Given the description of an element on the screen output the (x, y) to click on. 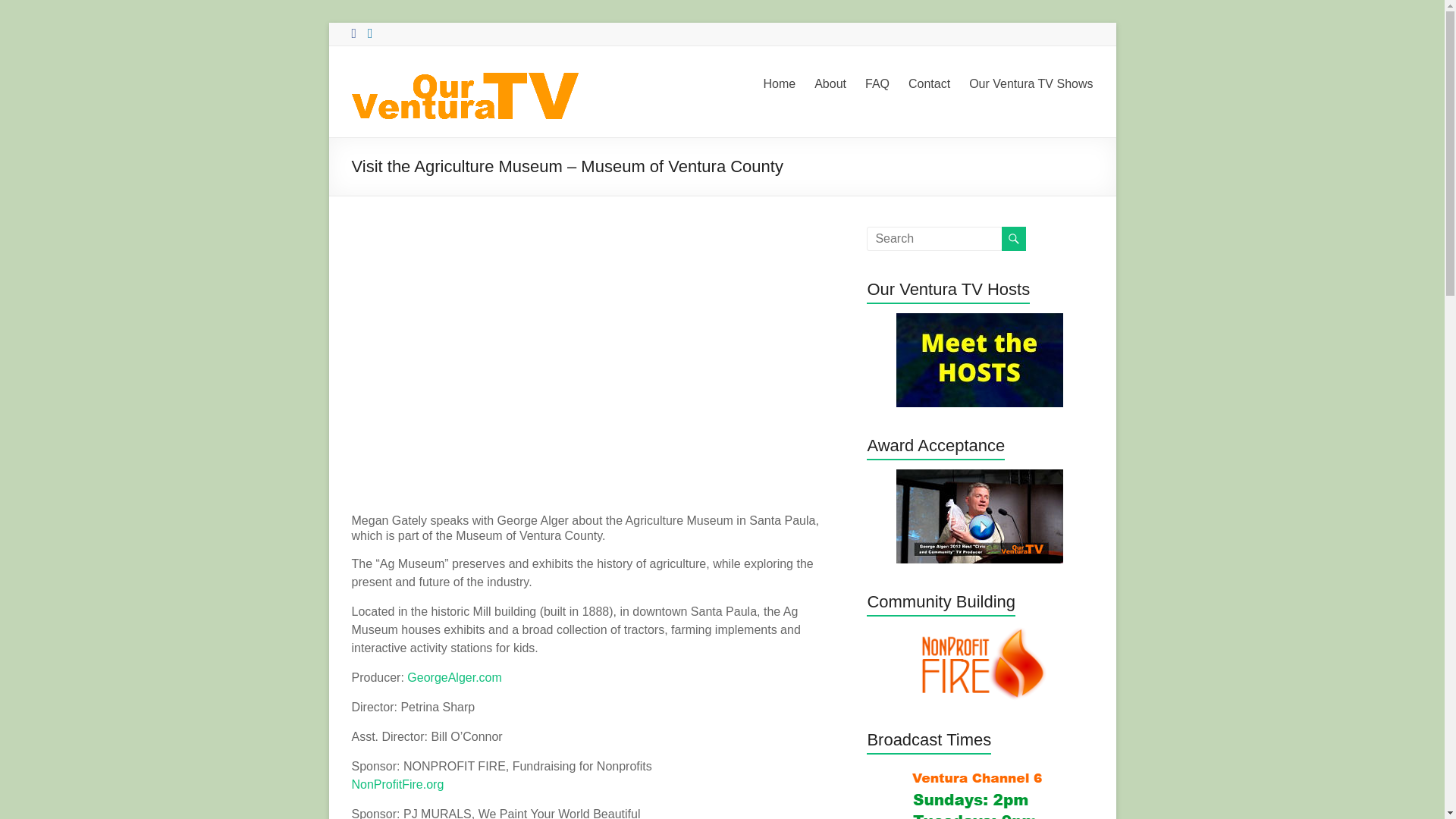
Contact (929, 83)
Our Ventura TV Schedule (979, 791)
Faith-Based Series (979, 359)
About (829, 83)
George Alger Award Acceptance (979, 516)
Frequently Asked Questions (876, 83)
Our Ventura TV (397, 106)
GeorgeAlger.com (454, 676)
Contact Our Ventura (929, 83)
